Given the description of an element on the screen output the (x, y) to click on. 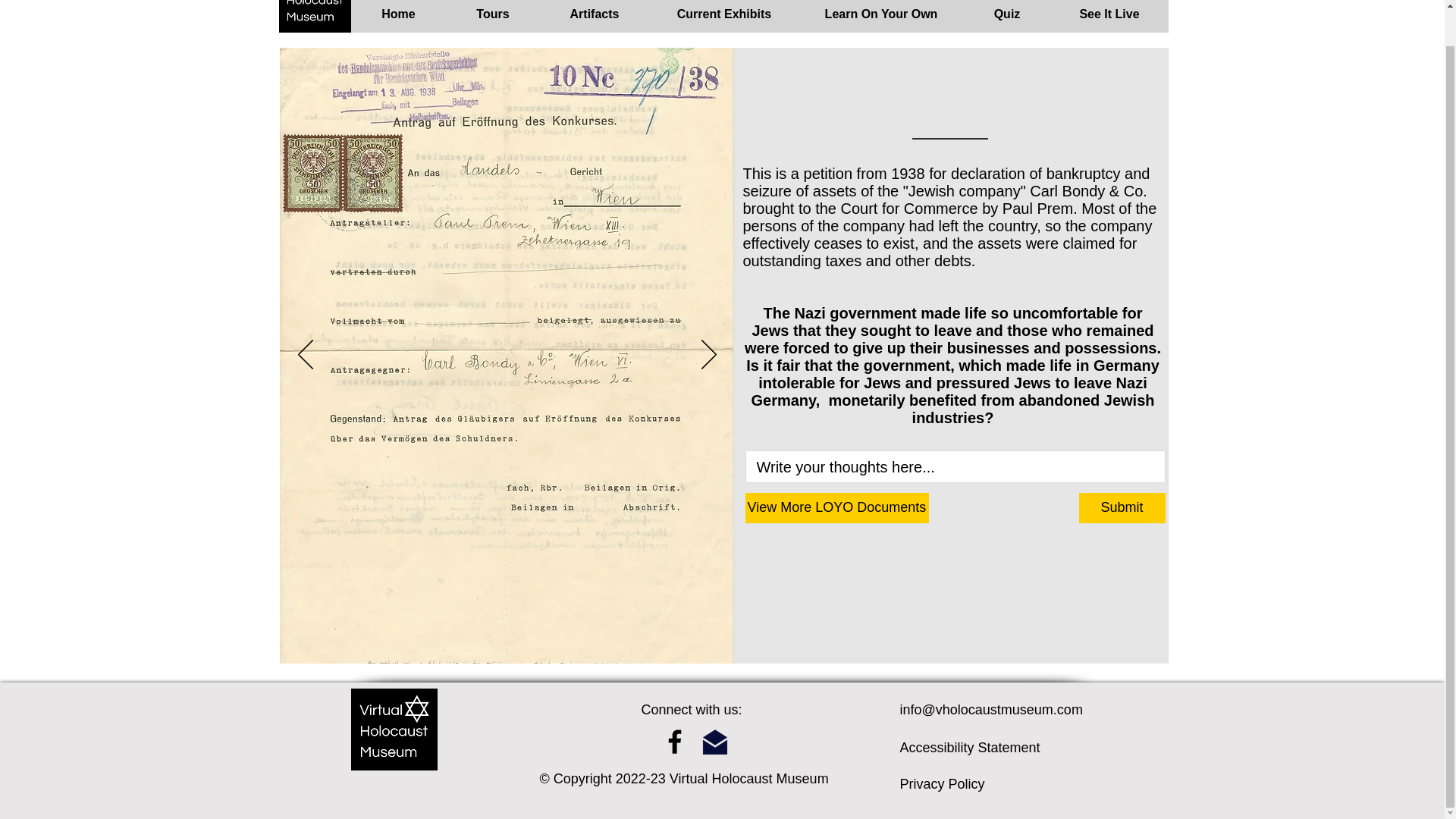
See It Live (1110, 20)
Artifacts (594, 20)
View More LOYO Documents (836, 508)
Accessibility Statement (969, 747)
Learn On Your Own (881, 20)
Submit (1121, 508)
Tours (491, 20)
Quiz (1005, 20)
Current Exhibits (723, 20)
Home (397, 20)
